Given the description of an element on the screen output the (x, y) to click on. 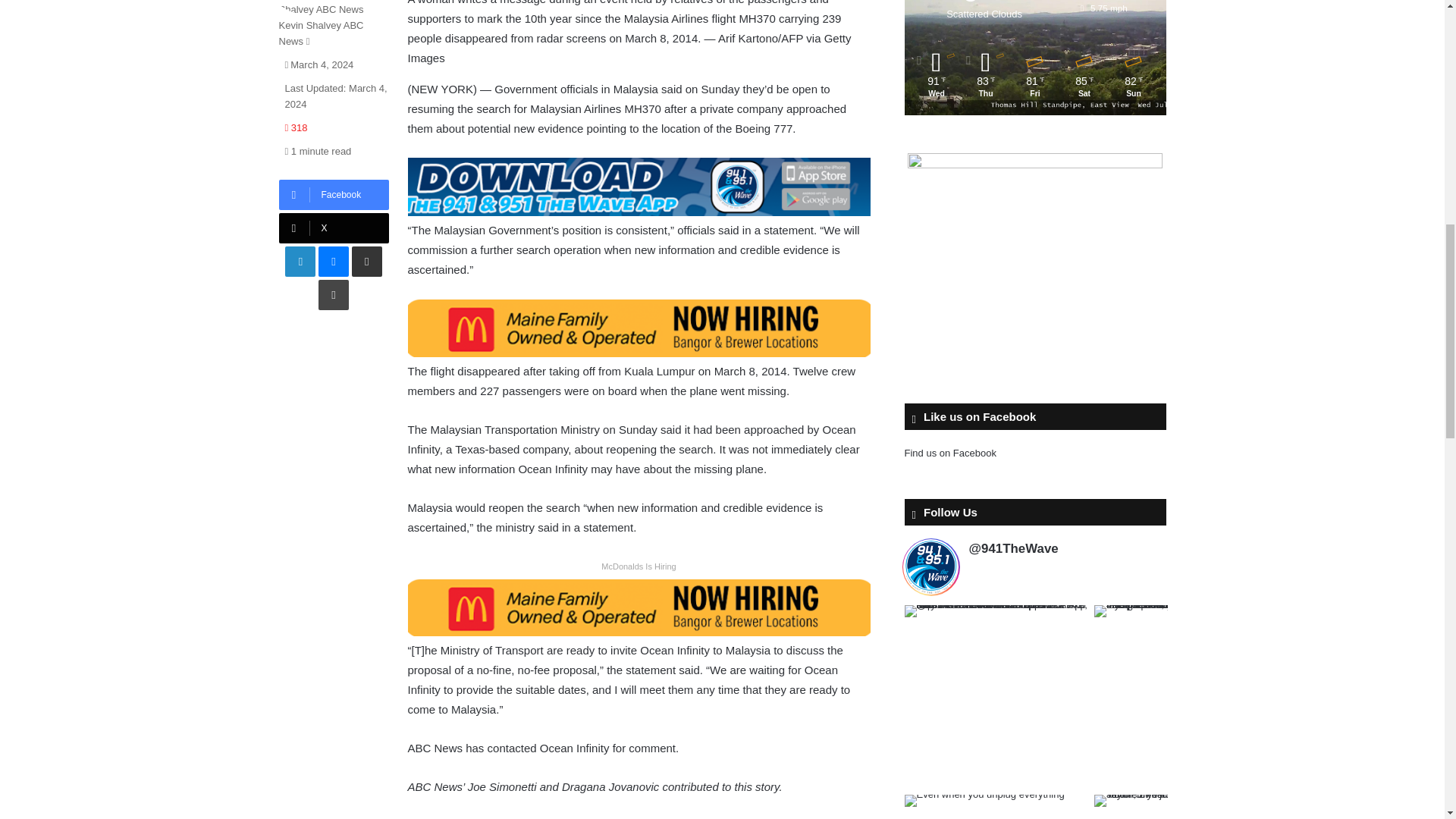
Facebook (333, 194)
Kevin Shalvey ABC News (321, 32)
